Given the description of an element on the screen output the (x, y) to click on. 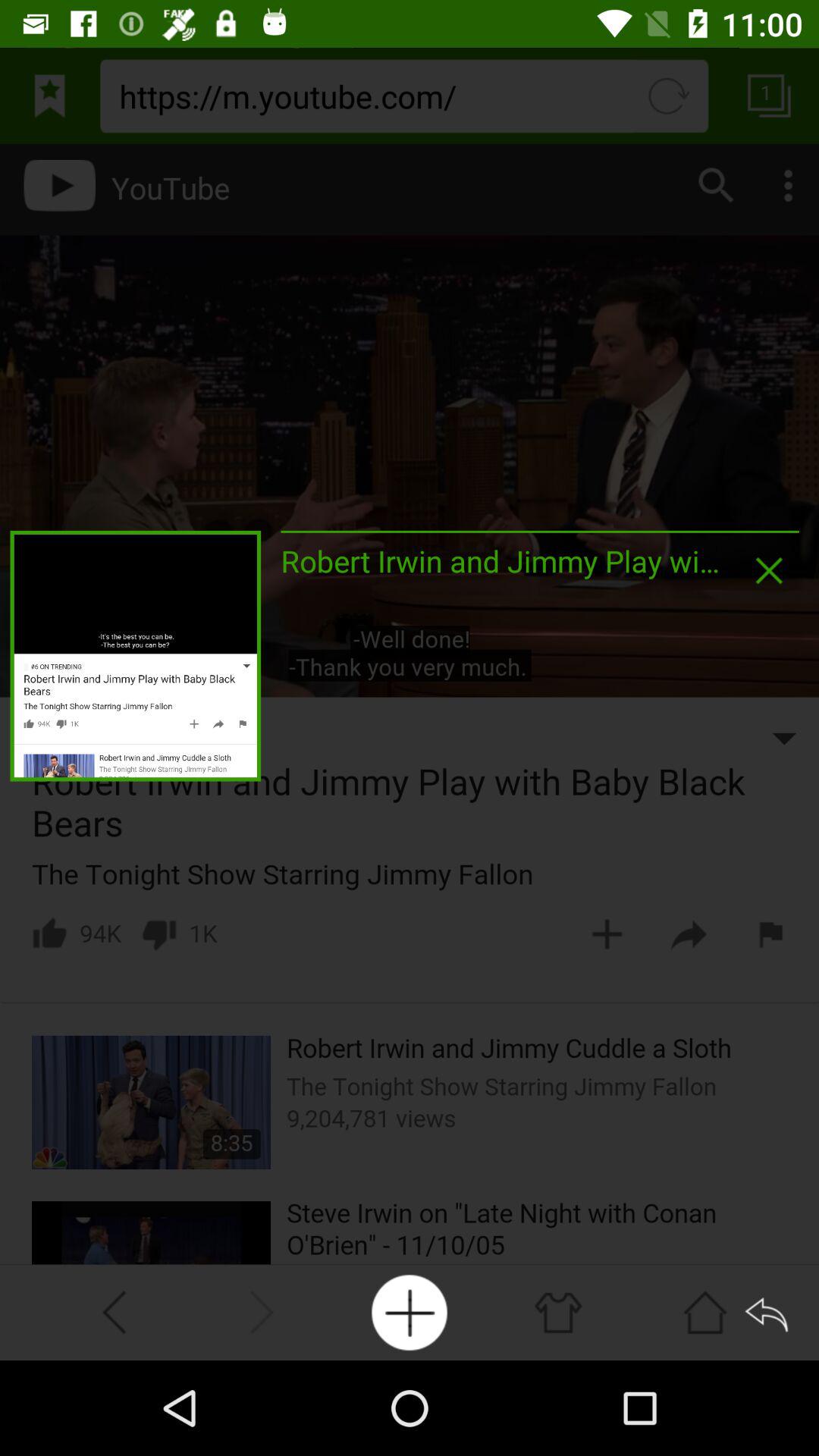
scroll until the robert irwin and icon (499, 560)
